Given the description of an element on the screen output the (x, y) to click on. 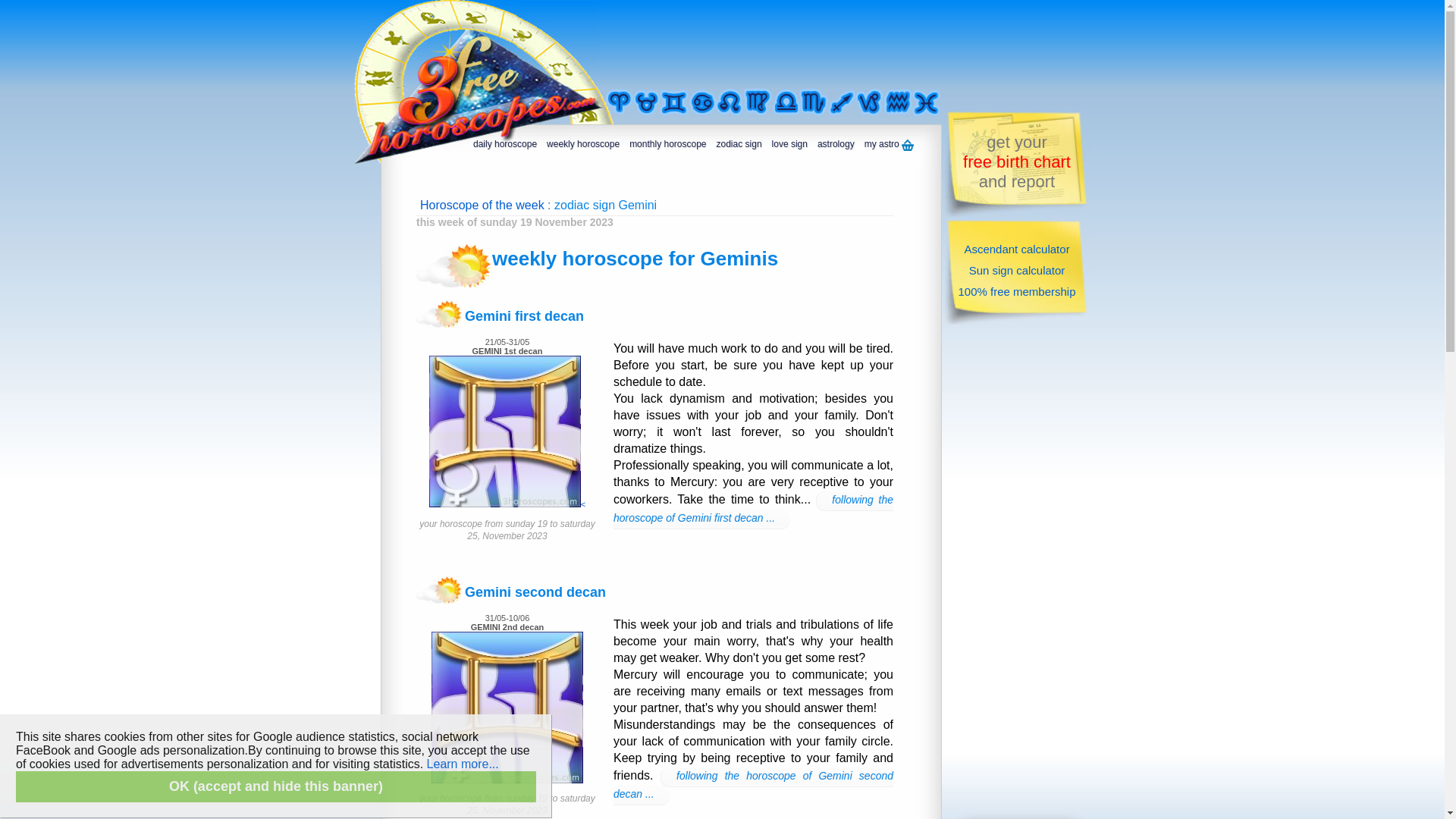
my astro Element type: text (887, 145)
Advertisement Element type: hover (1015, 569)
your horoscope from sunday 19 to saturday 25, November 2023 Element type: text (507, 795)
100% free membership Element type: text (1016, 291)
monthly horoscope Element type: text (665, 145)
astrology Element type: text (834, 145)
Advertisement Element type: hover (793, 43)
Ascendant calculator Element type: text (1016, 248)
Sun sign calculator Element type: text (1017, 269)
weekly horoscope Element type: text (581, 145)
following the horoscope of Gemini second decan ... Element type: text (753, 786)
daily horoscope Element type: text (502, 145)
zodiac sign Element type: text (737, 145)
get your
free birth chart
and report Element type: text (1016, 160)
OK (accept and hide this banner) Element type: text (275, 786)
Learn more... Element type: text (462, 763)
Horoscope of the week Element type: text (482, 204)
following the horoscope of Gemini first decan ... Element type: text (753, 510)
love sign Element type: text (787, 145)
